Given the description of an element on the screen output the (x, y) to click on. 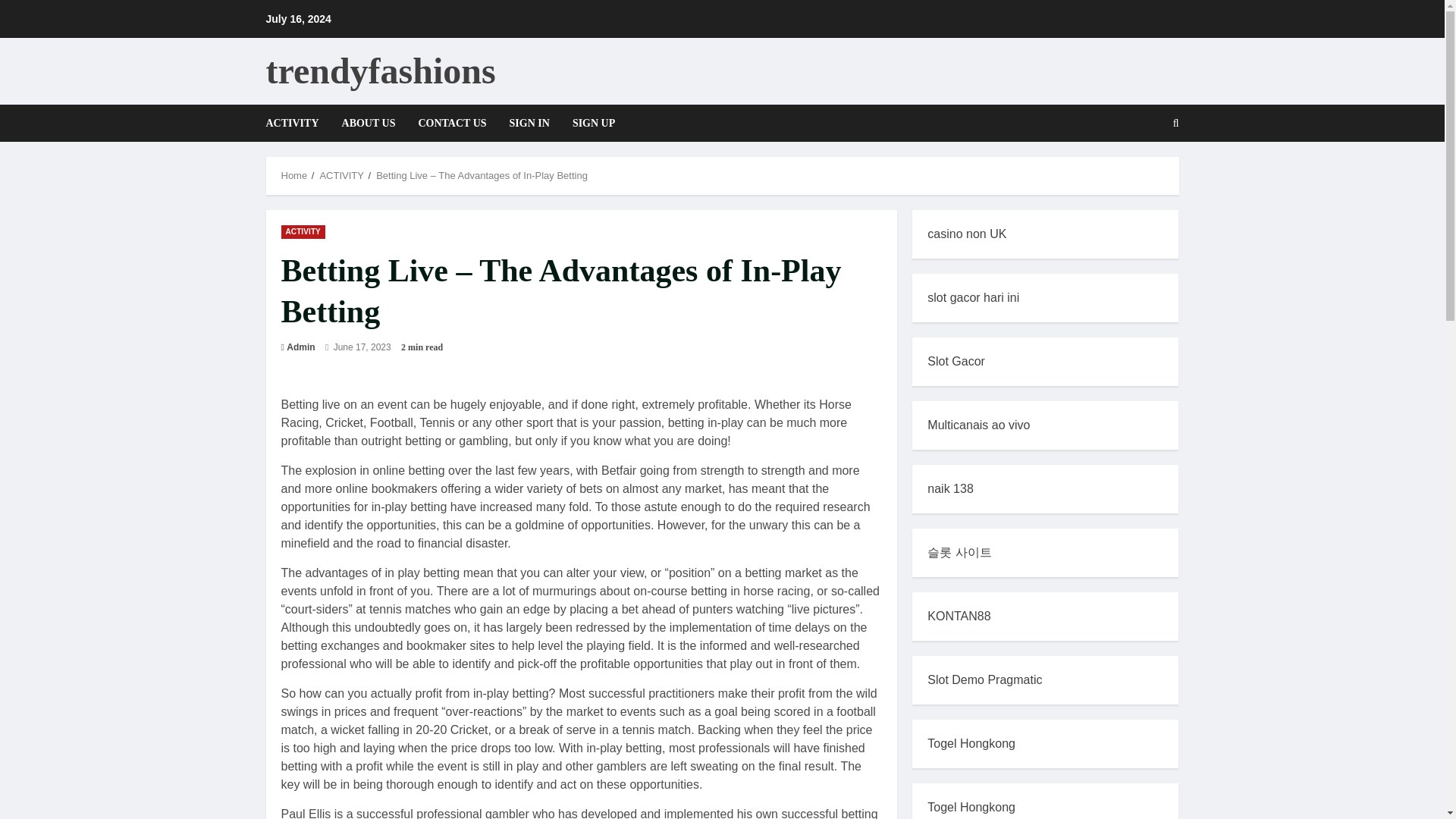
SIGN IN (528, 122)
Togel Hongkong (970, 743)
Admin (300, 346)
trendyfashions (379, 70)
Slot Demo Pragmatic (984, 679)
Search (1139, 174)
Multicanais ao vivo (978, 424)
SIGN UP (587, 122)
ABOUT US (368, 122)
casino non UK (966, 233)
Slot Gacor (956, 360)
slot gacor hari ini (973, 297)
KONTAN88 (958, 615)
ACTIVITY (297, 122)
Togel Hongkong (970, 807)
